Given the description of an element on the screen output the (x, y) to click on. 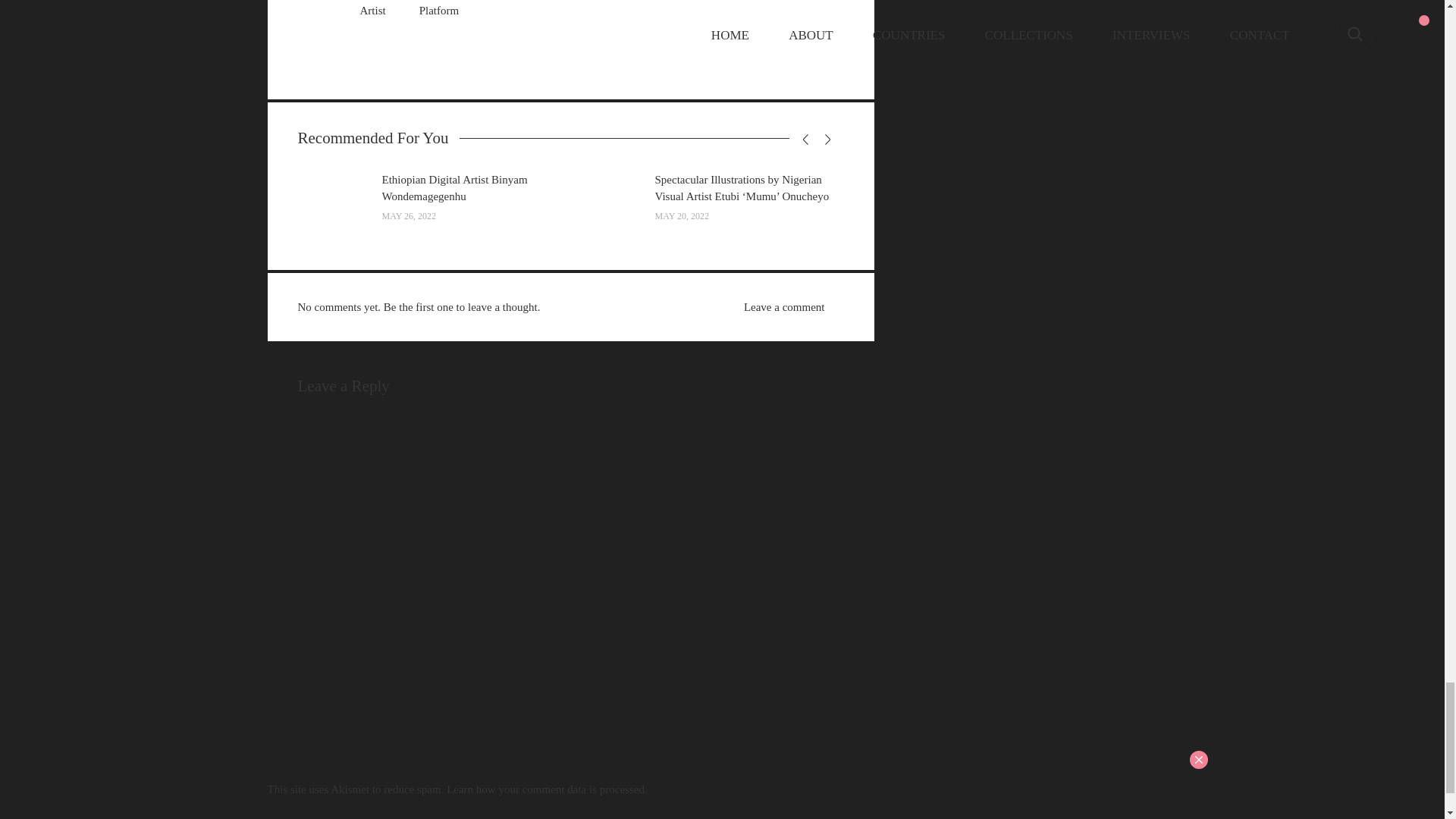
Leave a comment (782, 306)
